Given the description of an element on the screen output the (x, y) to click on. 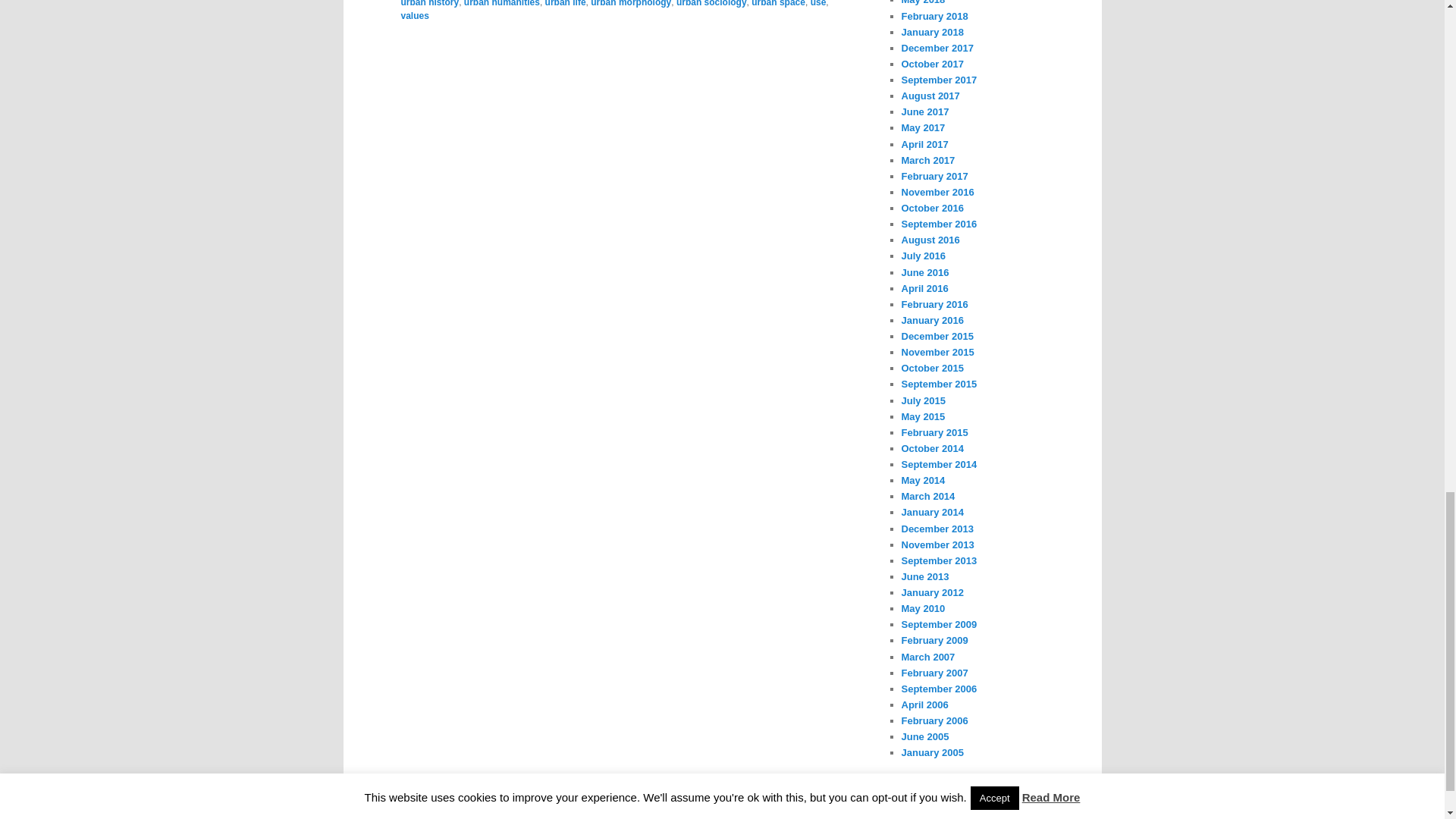
Semantic Personal Publishing Platform (721, 810)
